Given the description of an element on the screen output the (x, y) to click on. 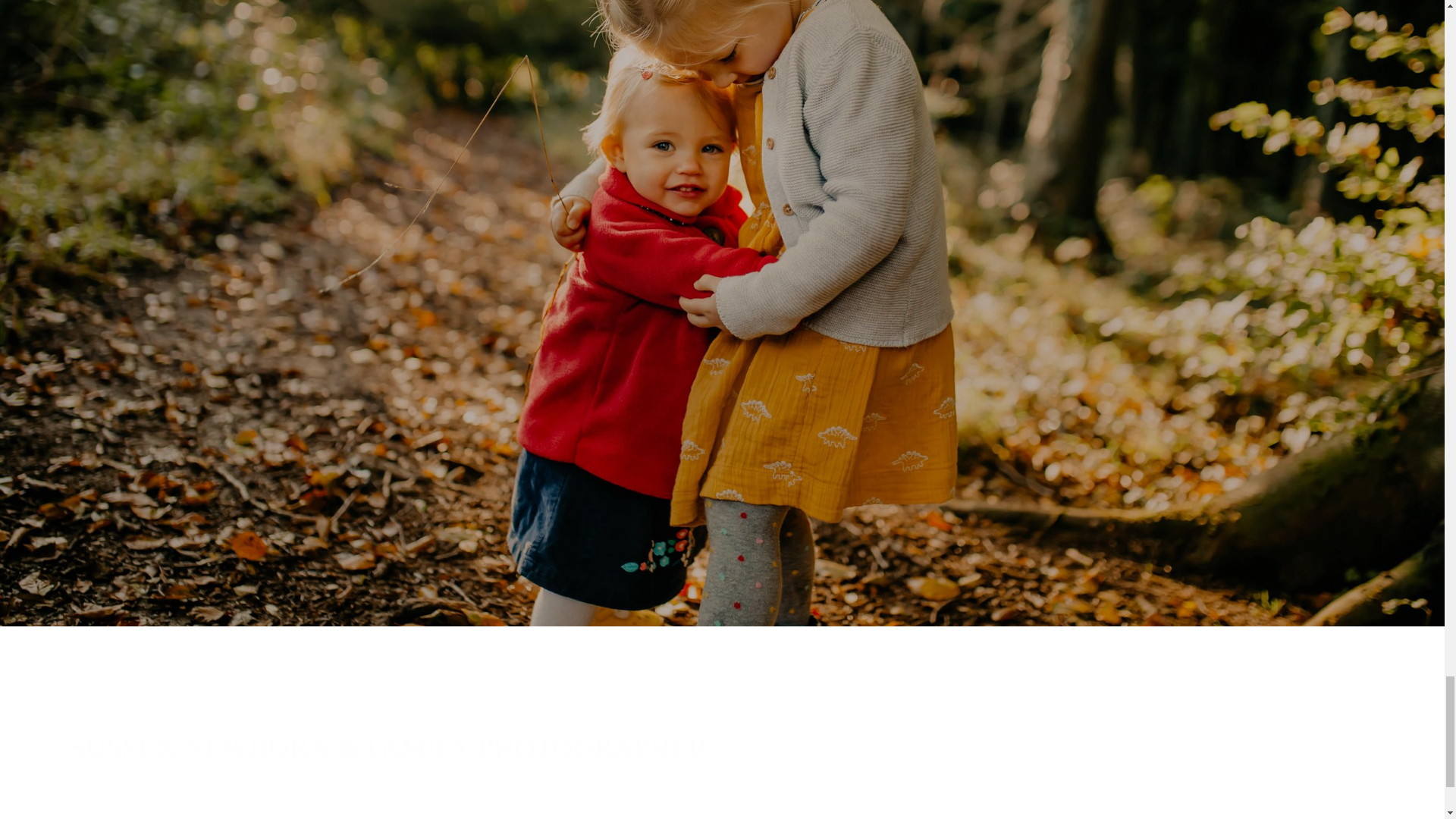
GET IN TOUCH (722, 315)
